Given the description of an element on the screen output the (x, y) to click on. 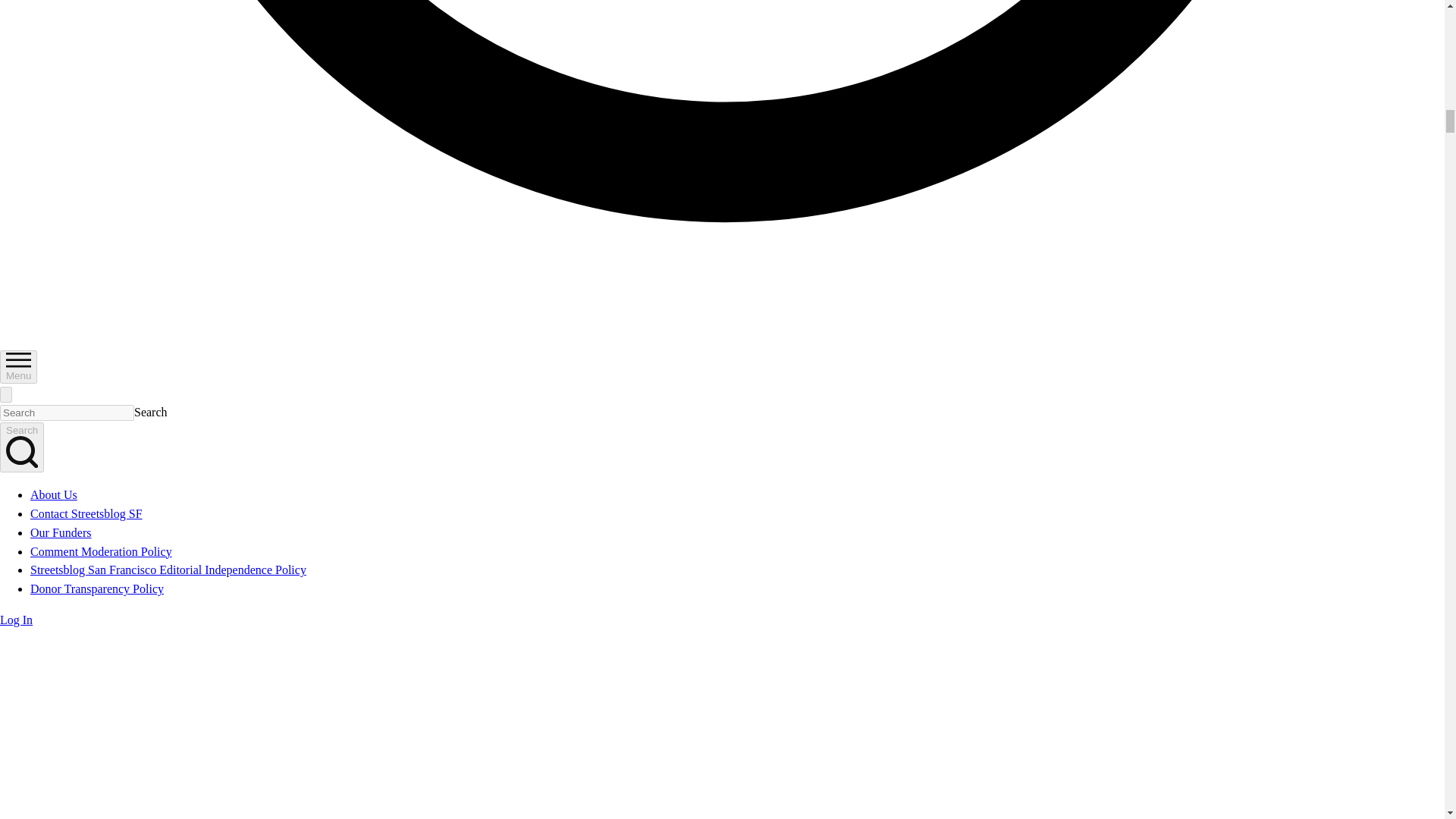
Comment Moderation Policy (100, 551)
Menu (18, 366)
Our Funders (60, 532)
Contact Streetsblog SF (86, 513)
About Us (53, 494)
Streetsblog San Francisco Editorial Independence Policy (167, 569)
Donor Transparency Policy (96, 588)
